Given the description of an element on the screen output the (x, y) to click on. 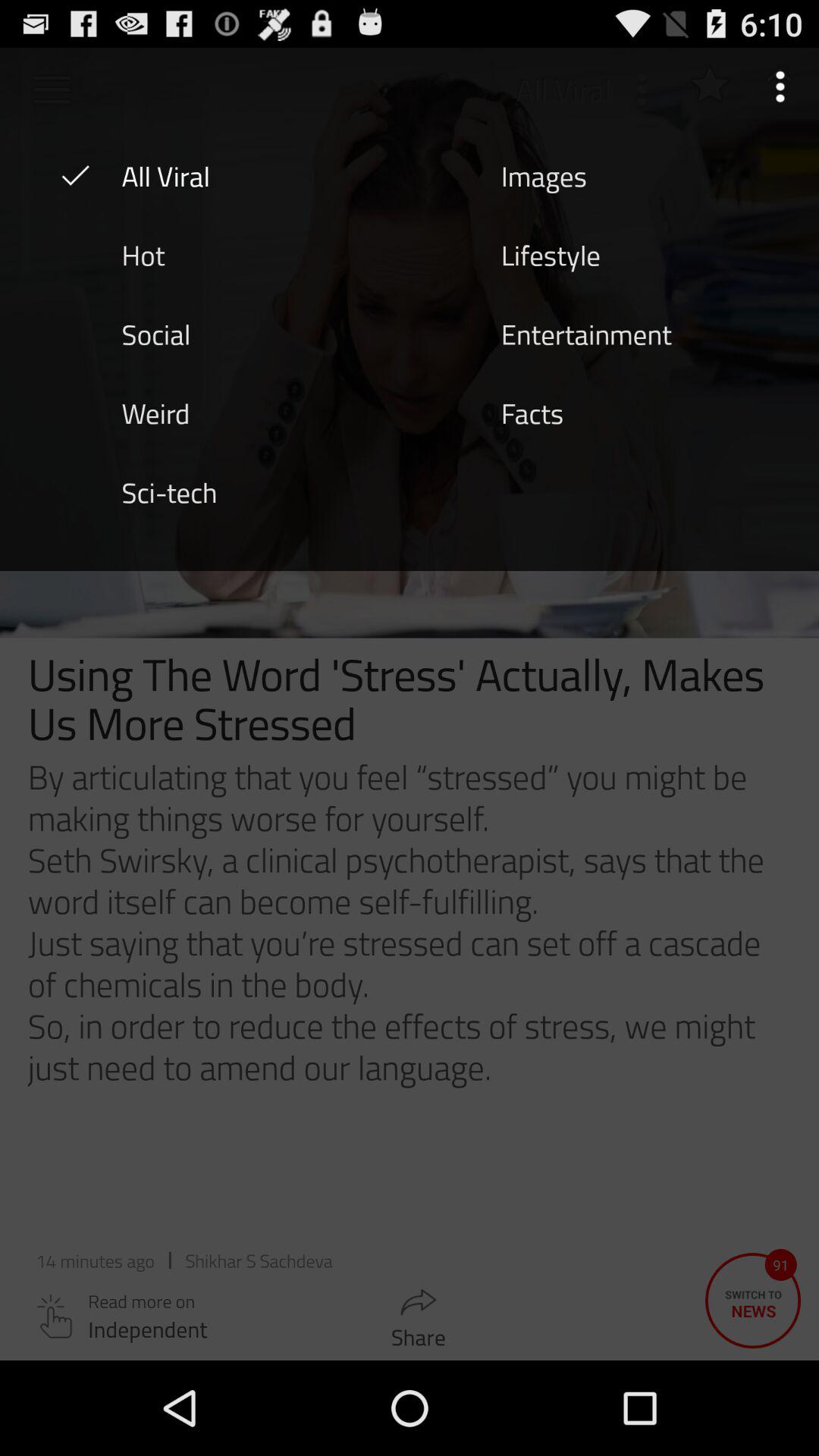
turn on the item next to the hot icon (550, 253)
